Given the description of an element on the screen output the (x, y) to click on. 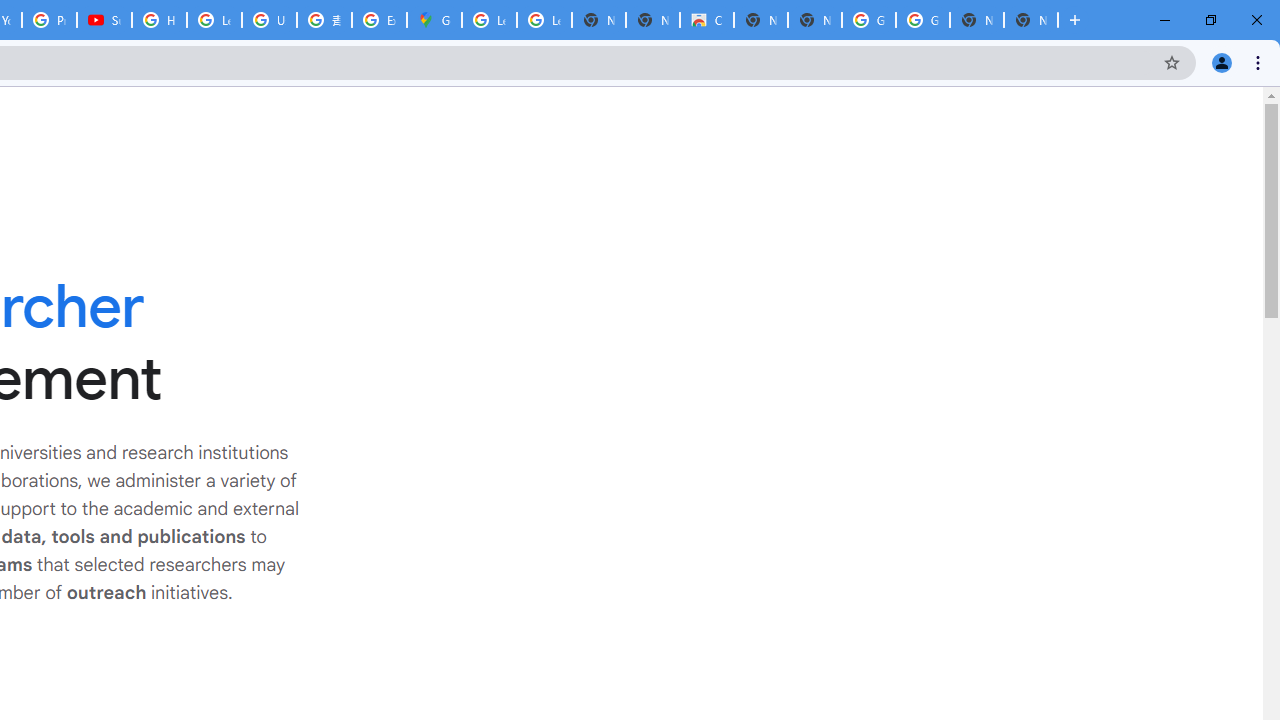
Chrome Web Store (706, 20)
Explore new street-level details - Google Maps Help (379, 20)
Subscriptions - YouTube (103, 20)
Google Maps (434, 20)
Google Images (868, 20)
New Tab (1030, 20)
